Given the description of an element on the screen output the (x, y) to click on. 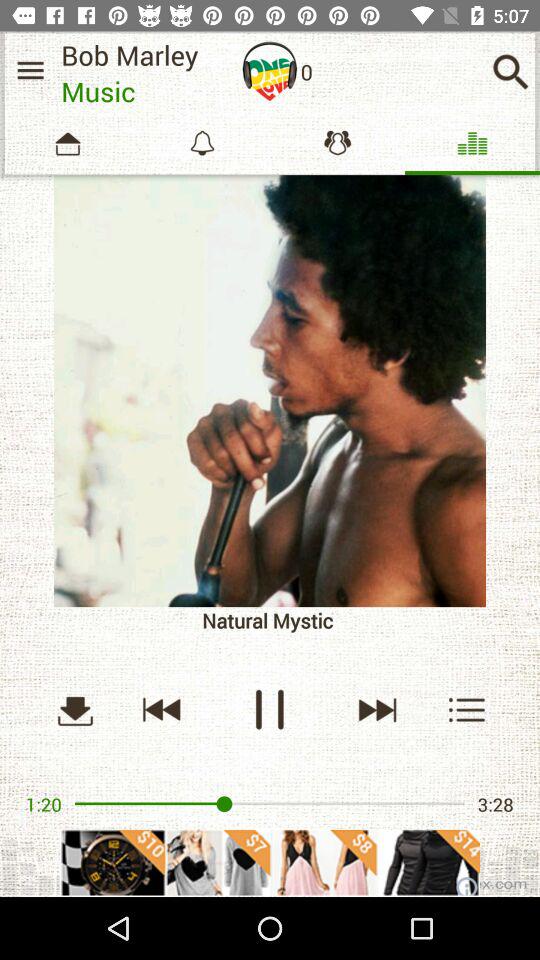
go to advertisement (270, 862)
